Given the description of an element on the screen output the (x, y) to click on. 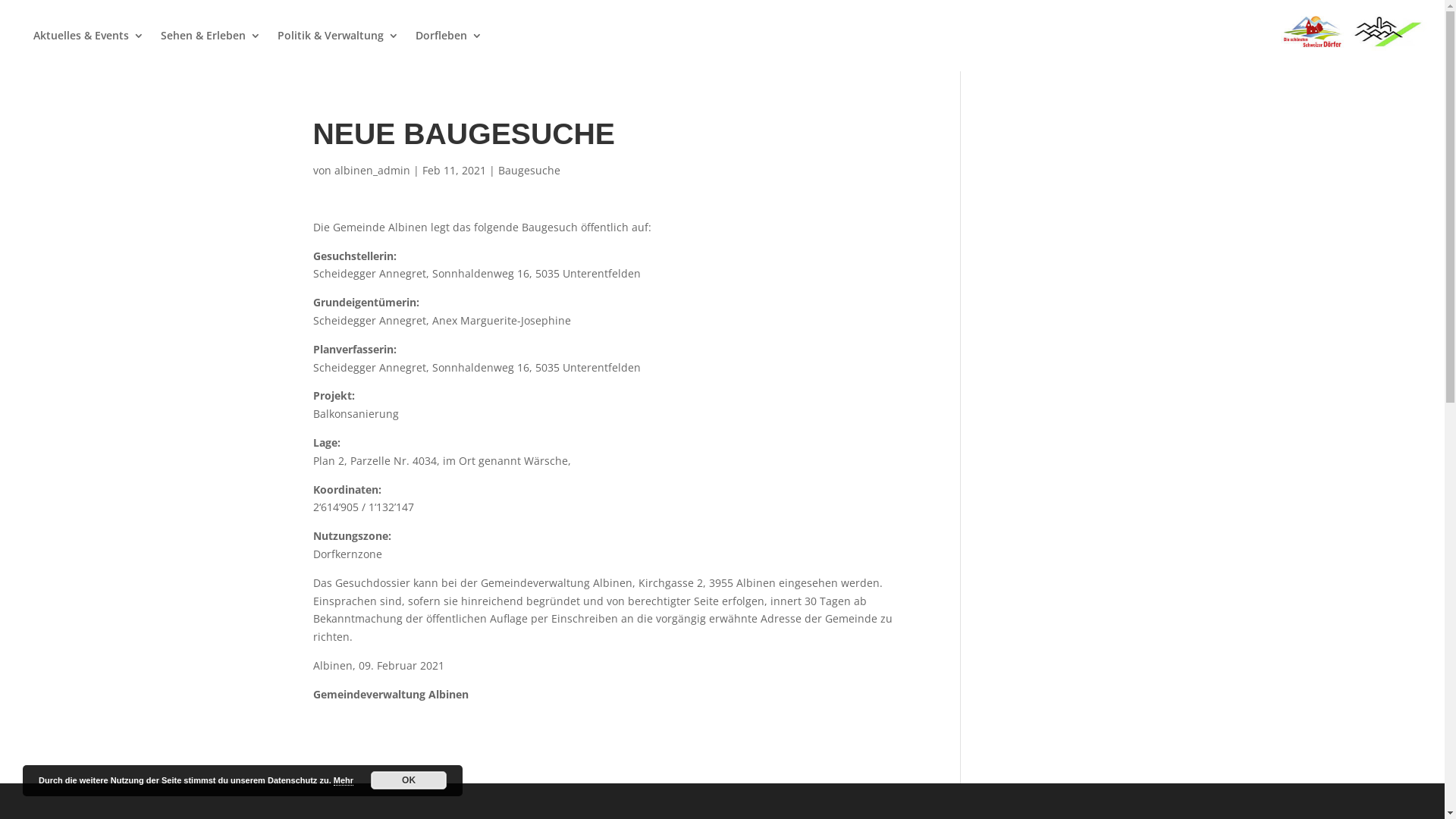
Dorfleben Element type: text (448, 50)
OK Element type: text (408, 780)
Mehr Element type: text (343, 780)
albinen_admin Element type: text (371, 170)
Politik & Verwaltung Element type: text (337, 50)
Sehen & Erleben Element type: text (210, 50)
Baugesuche Element type: text (528, 170)
Aktuelles & Events Element type: text (88, 50)
